Given the description of an element on the screen output the (x, y) to click on. 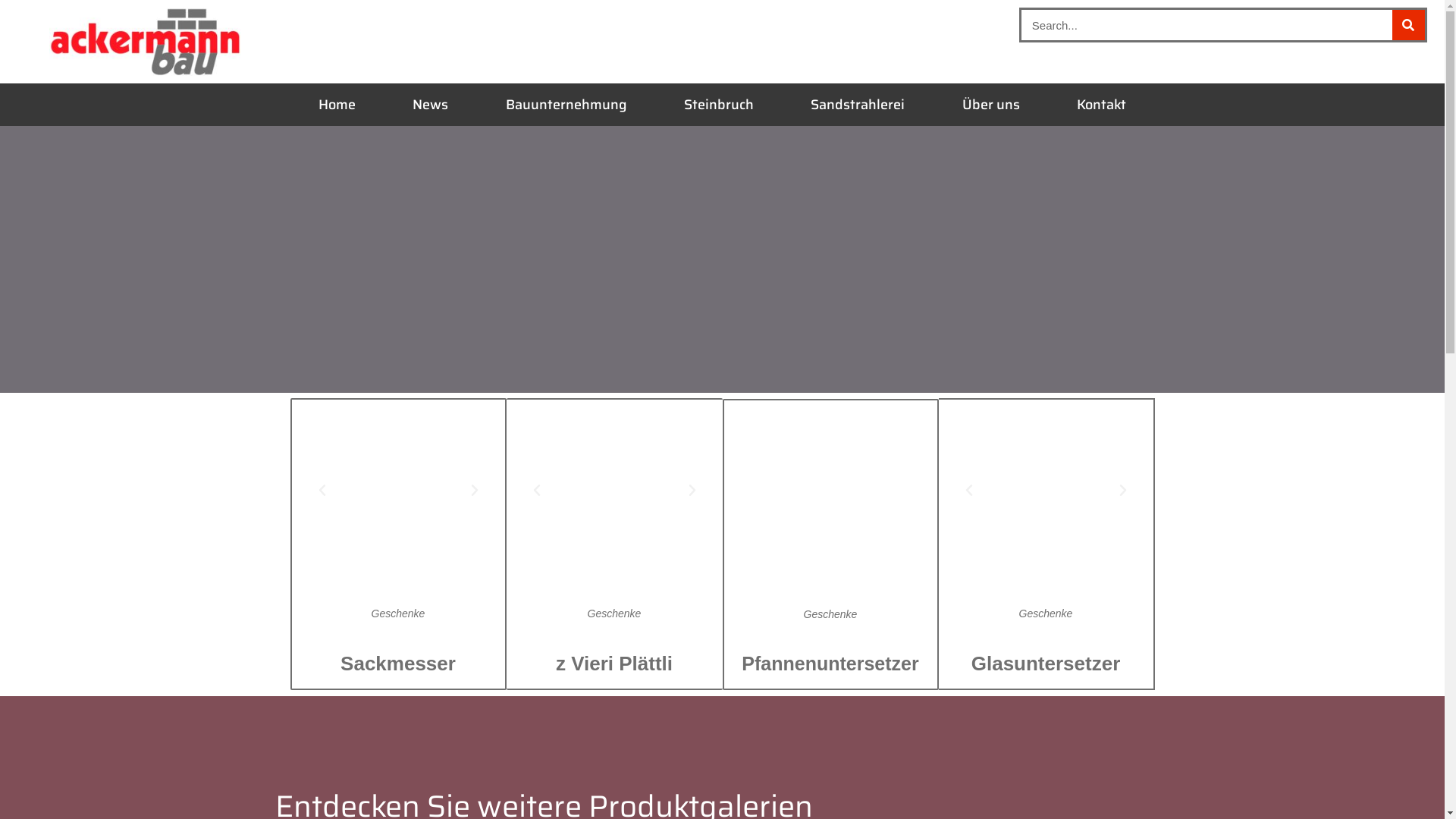
Steinbruch Element type: text (718, 104)
Sandstrahlerei Element type: text (857, 104)
Bauunternehmung Element type: text (565, 104)
Home Element type: text (336, 104)
Kontakt Element type: text (1101, 104)
News Element type: text (430, 104)
